Given the description of an element on the screen output the (x, y) to click on. 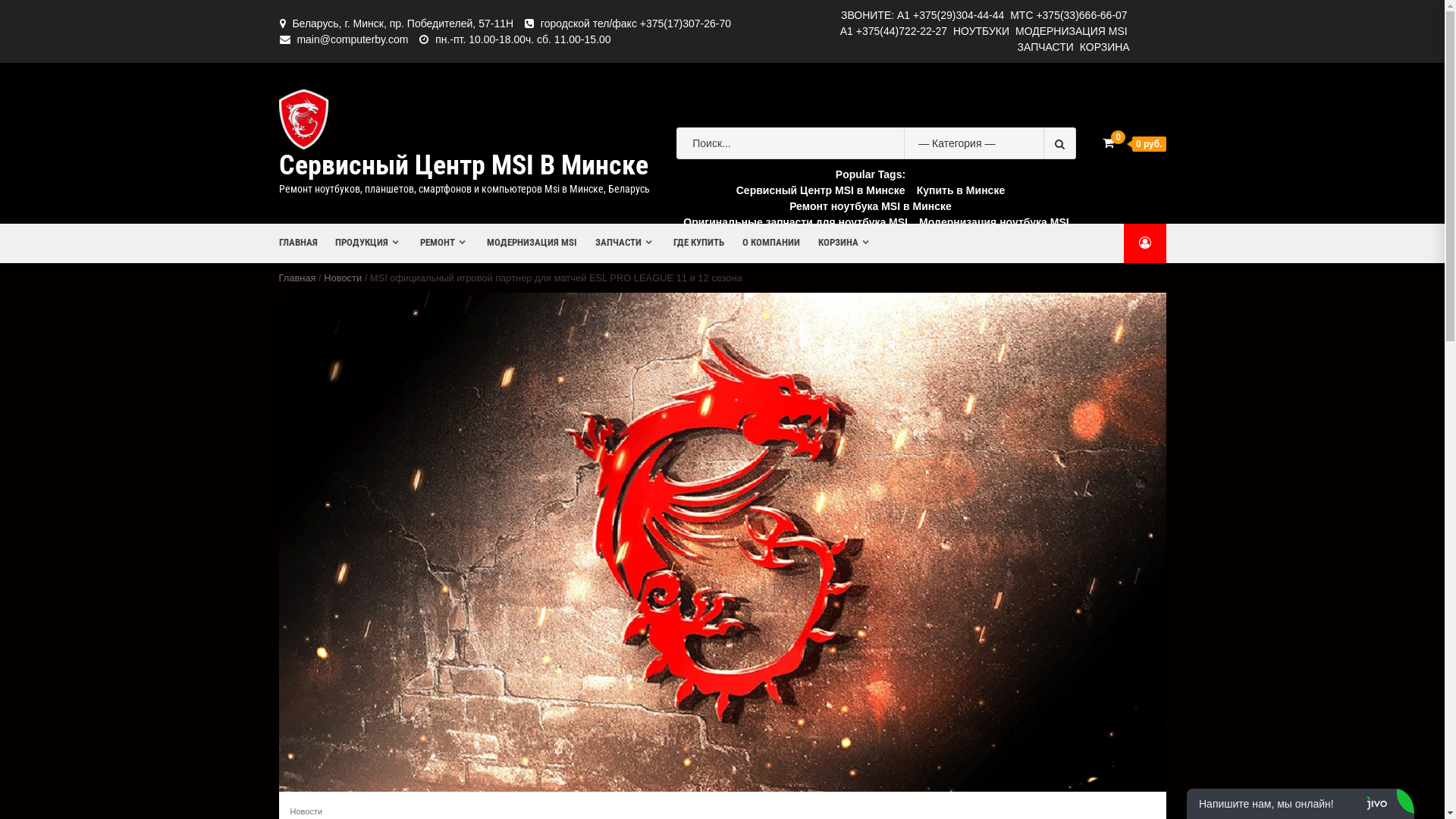
A1 +375(44)722-22-27 Element type: text (893, 31)
main@computerby.com Element type: text (351, 39)
0 Element type: text (1107, 142)
